Given the description of an element on the screen output the (x, y) to click on. 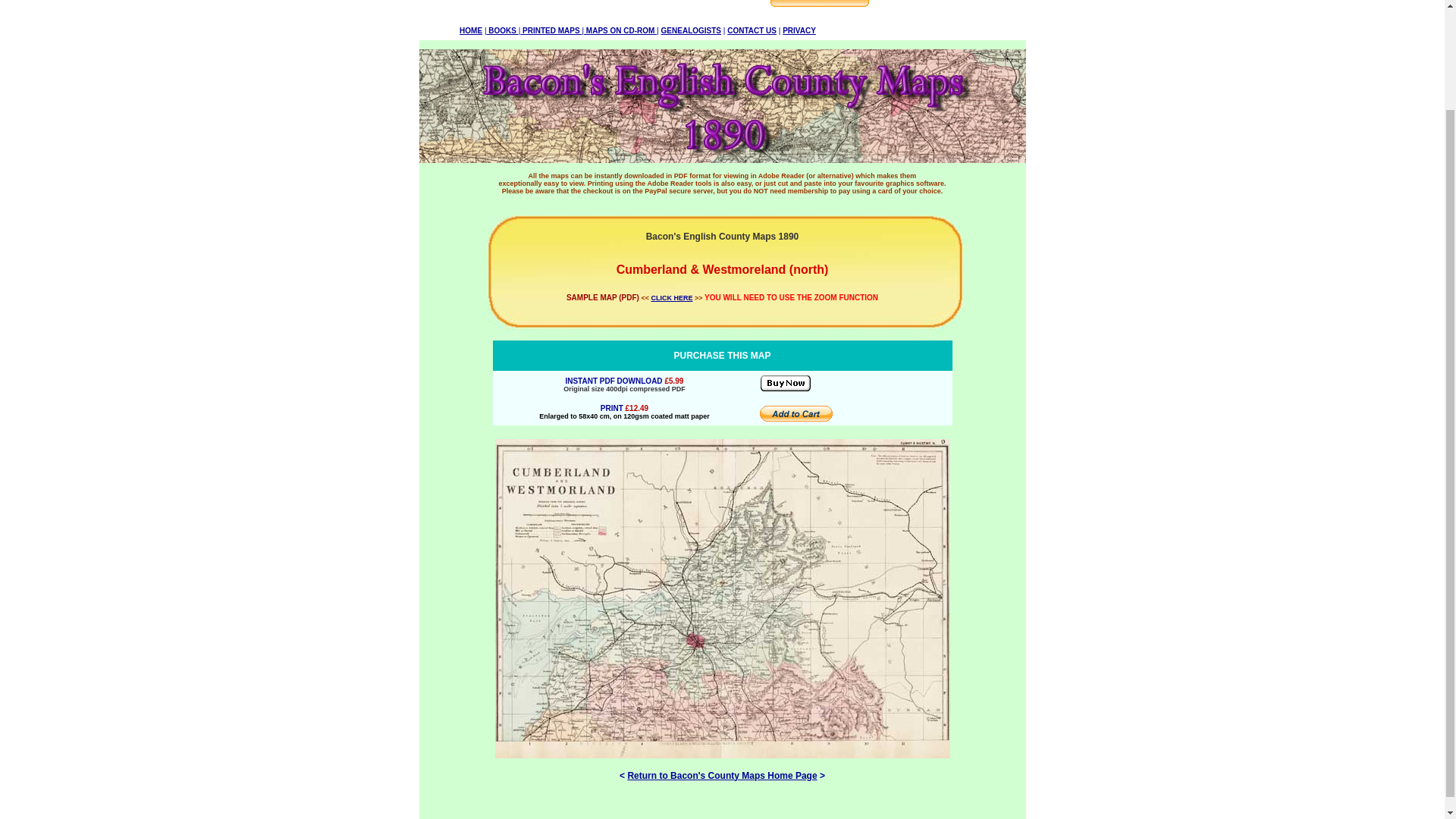
PRIVACY (799, 30)
PRINTED MAPS (549, 30)
MAPS ON CD-ROM (619, 30)
HOME (470, 30)
CLICK HERE (671, 298)
Return to Bacon's County Maps Home Page (721, 774)
BOOKS (502, 30)
GENEALOGISTS (690, 30)
CONTACT US (751, 30)
